Given the description of an element on the screen output the (x, y) to click on. 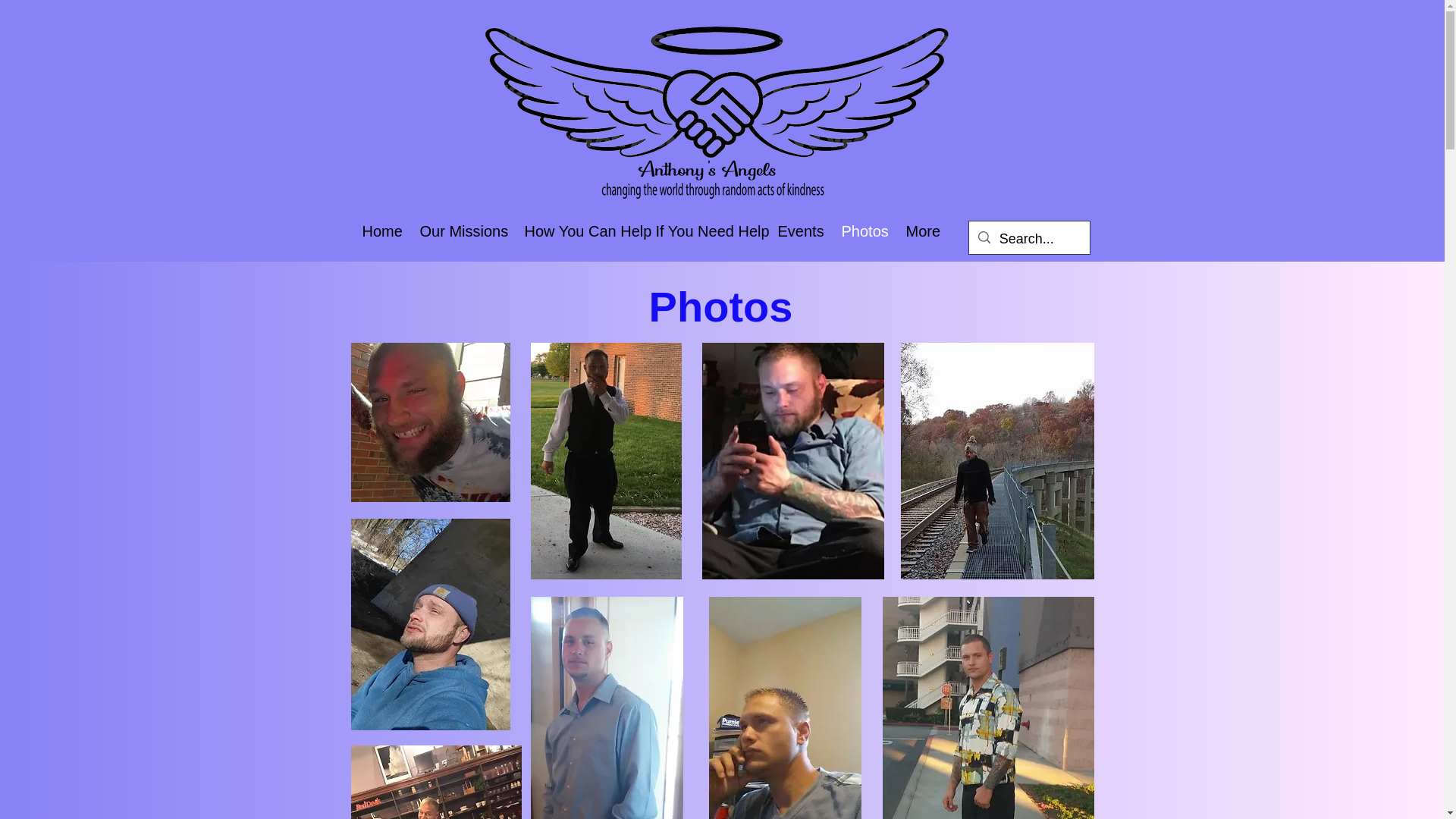
Photos (861, 231)
If You Need Help (706, 231)
How You Can Help (577, 231)
Events (797, 231)
Anthony 6.jpg (429, 422)
Our Missions (459, 231)
Home (378, 231)
